Given the description of an element on the screen output the (x, y) to click on. 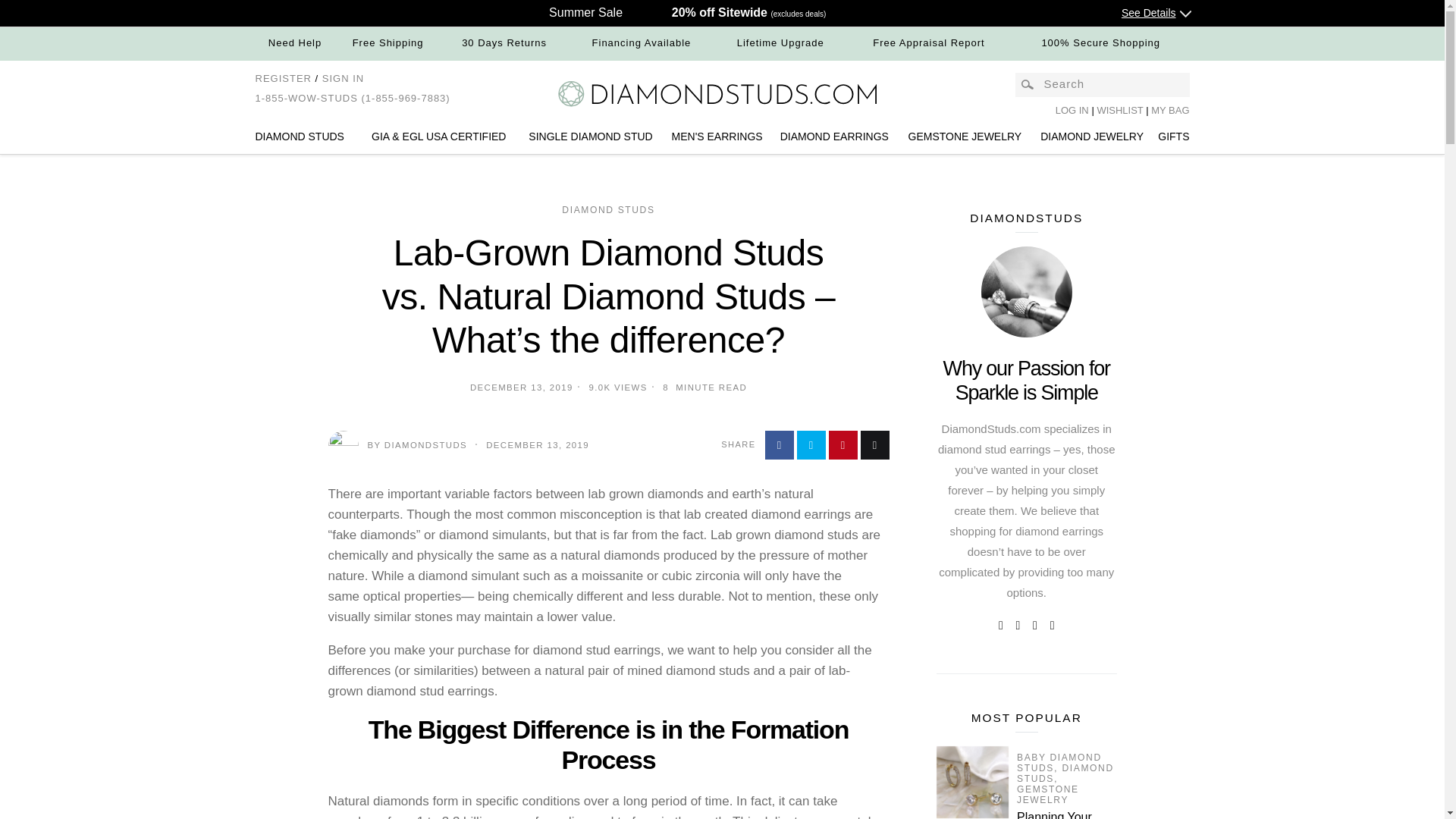
Share on Pinterest (842, 444)
REGISTER (282, 78)
Free Appraisal Report (928, 42)
Share by Email (874, 444)
Summer Sale (585, 12)
Free Shipping (387, 42)
LOG IN (1072, 110)
Share on Twitter (810, 444)
Need Help (294, 42)
